Given the description of an element on the screen output the (x, y) to click on. 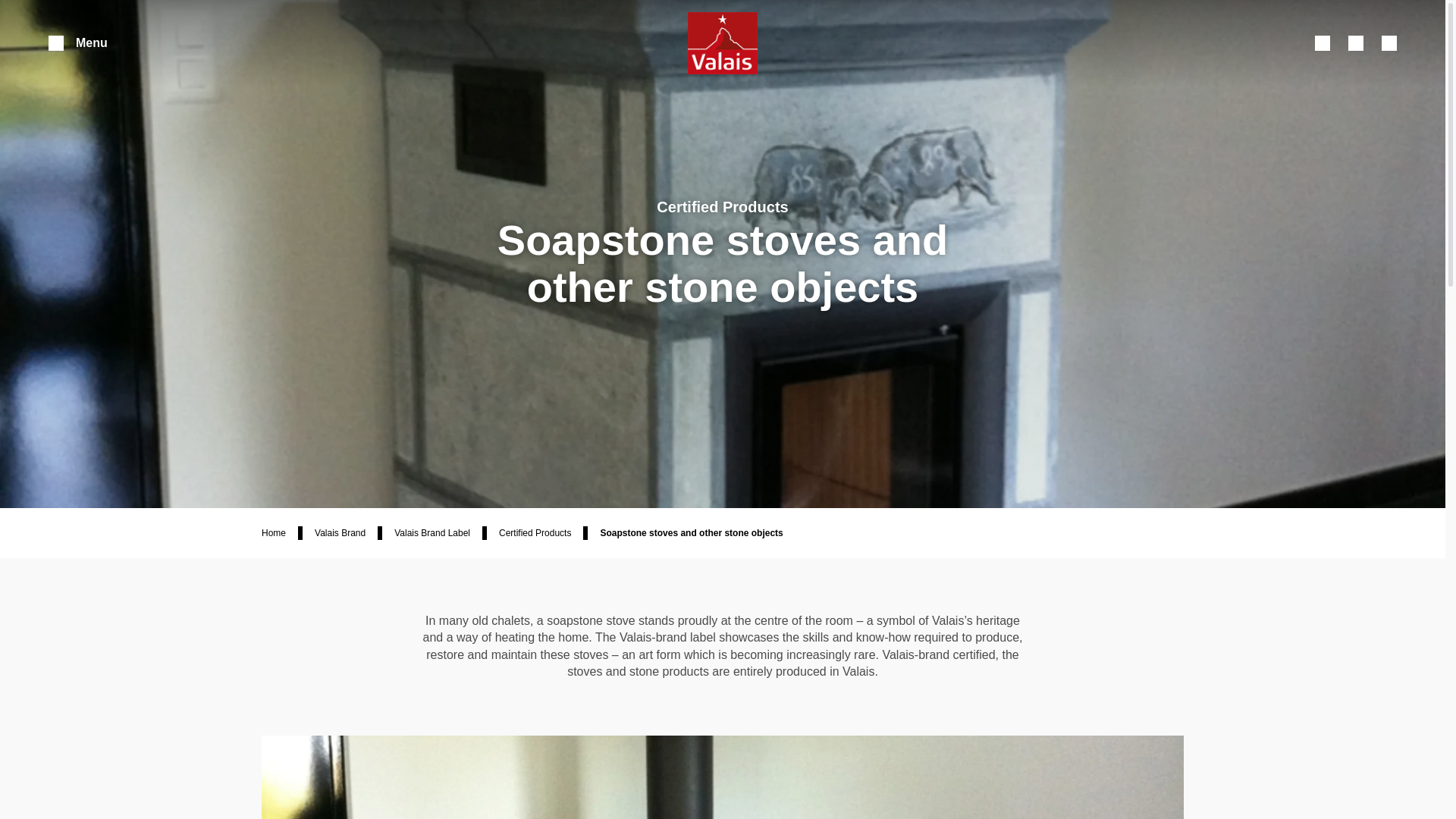
Search (1322, 42)
Show interactive map (1389, 42)
Menu (77, 42)
Shopping cart (1356, 42)
Shopping cart (1356, 42)
